Given the description of an element on the screen output the (x, y) to click on. 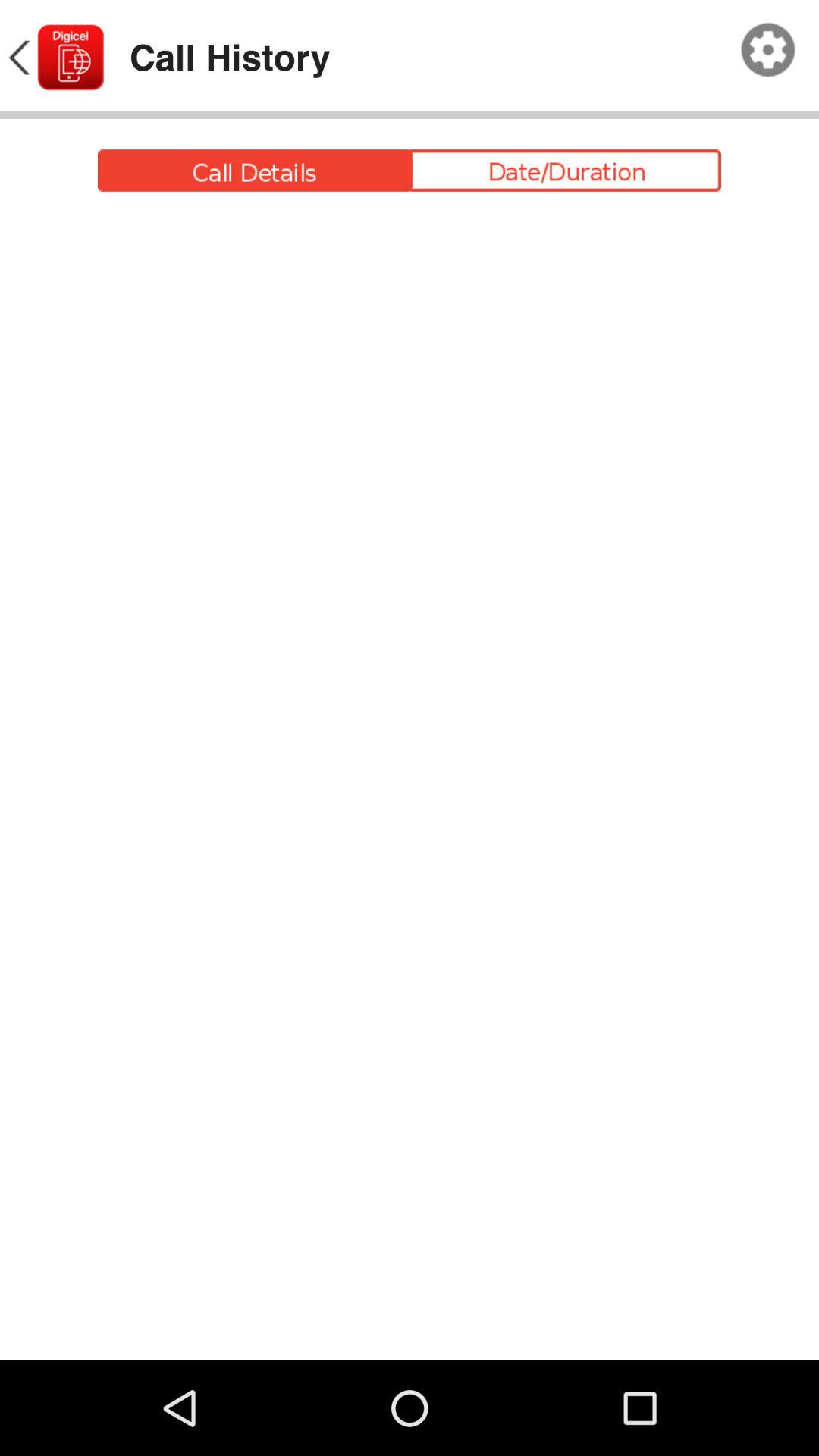
ok (768, 49)
